Given the description of an element on the screen output the (x, y) to click on. 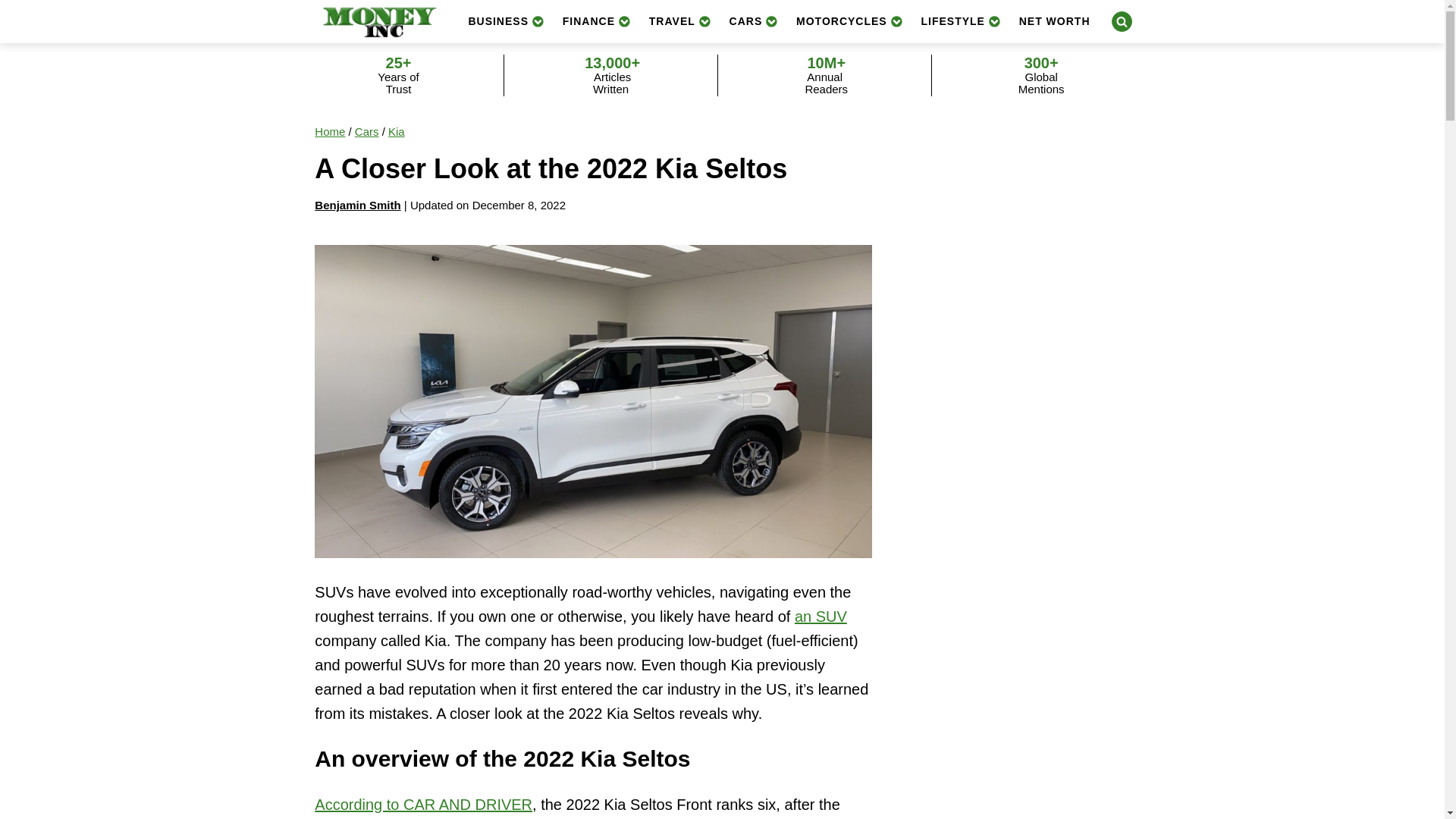
CARS (753, 21)
TRAVEL (680, 21)
BUSINESS (505, 21)
FINANCE (596, 21)
